Given the description of an element on the screen output the (x, y) to click on. 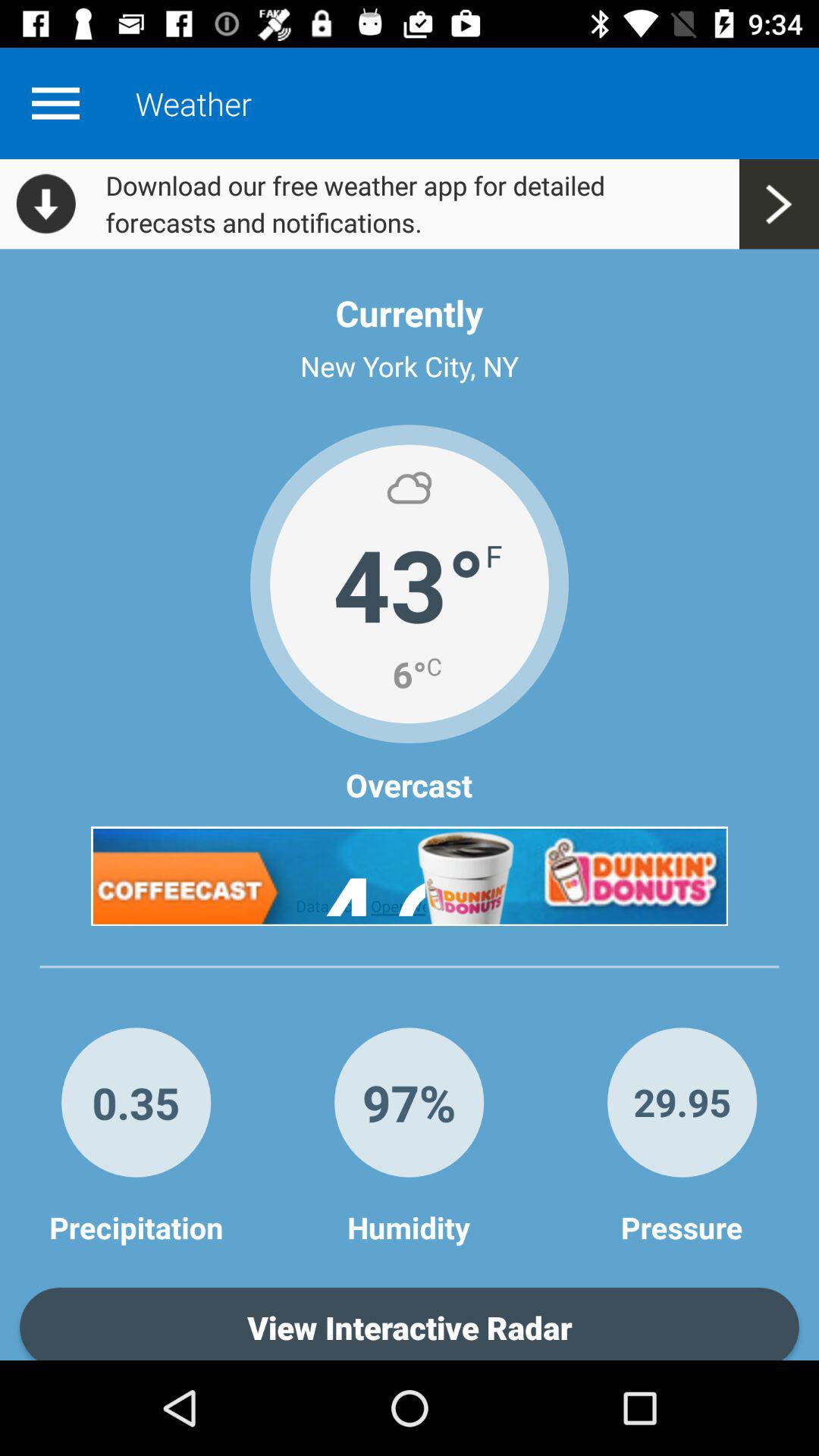
advertisements option (409, 875)
